Given the description of an element on the screen output the (x, y) to click on. 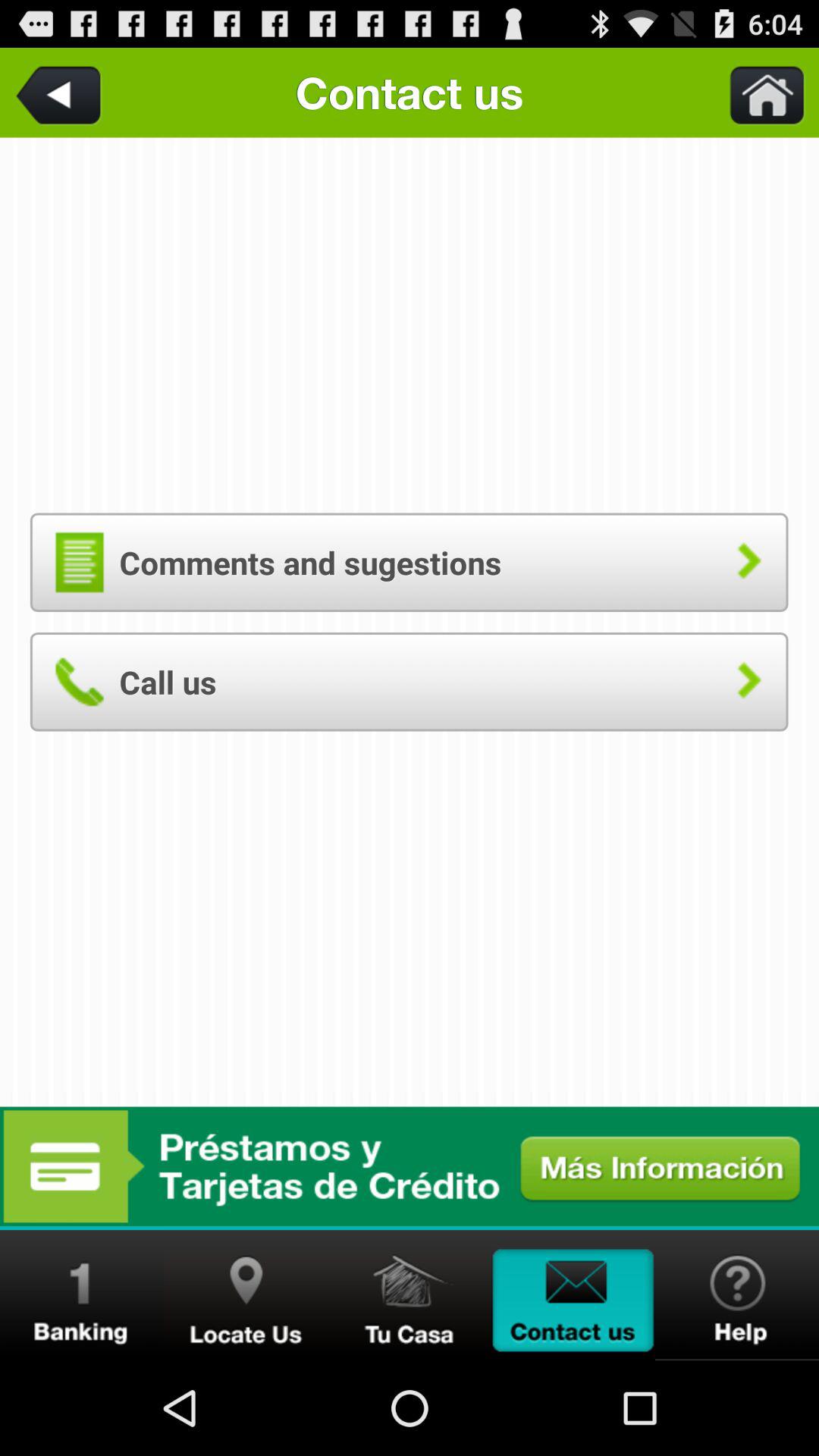
go back (61, 92)
